Given the description of an element on the screen output the (x, y) to click on. 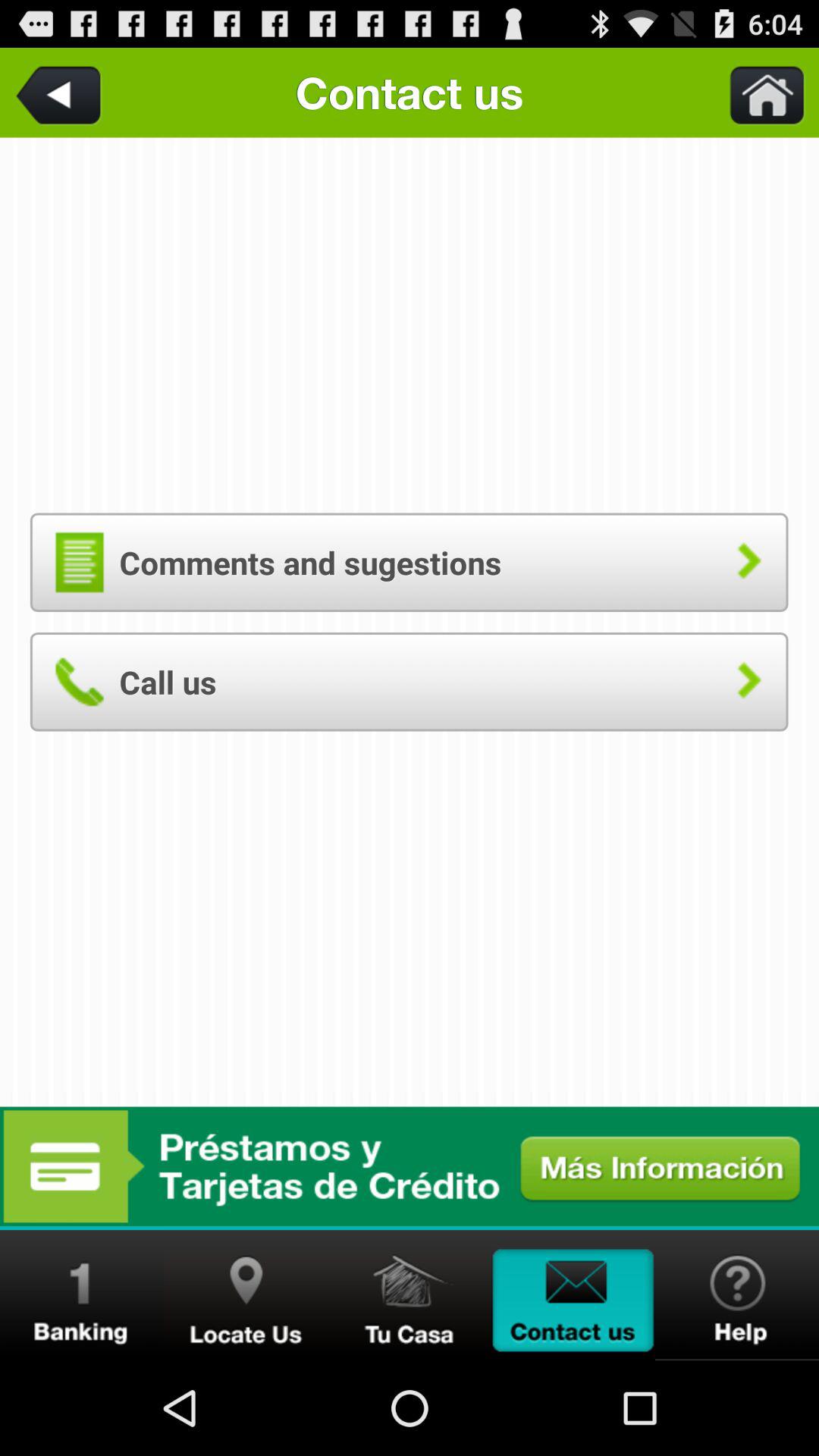
go back (61, 92)
